Given the description of an element on the screen output the (x, y) to click on. 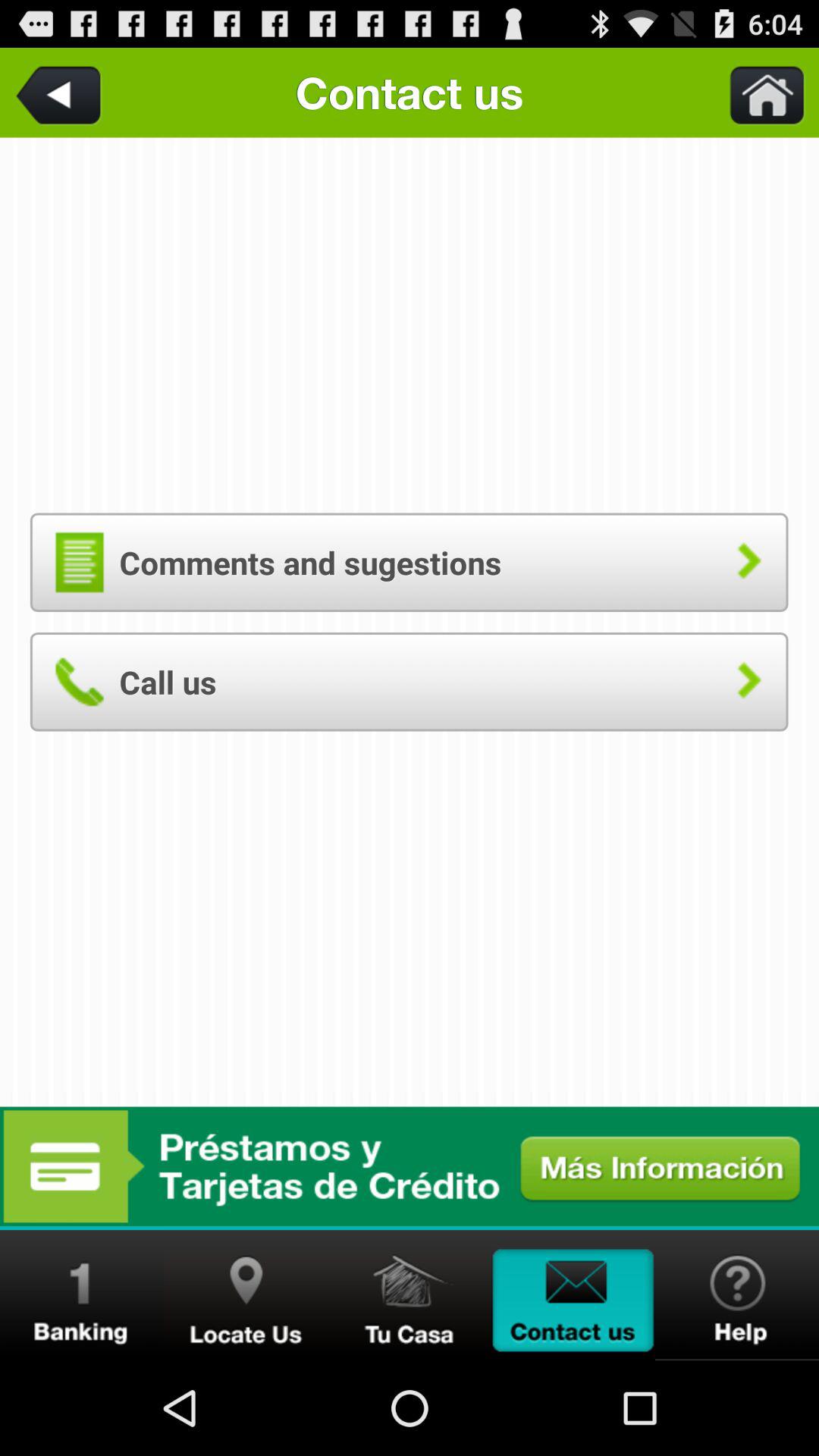
go back (61, 92)
